Given the description of an element on the screen output the (x, y) to click on. 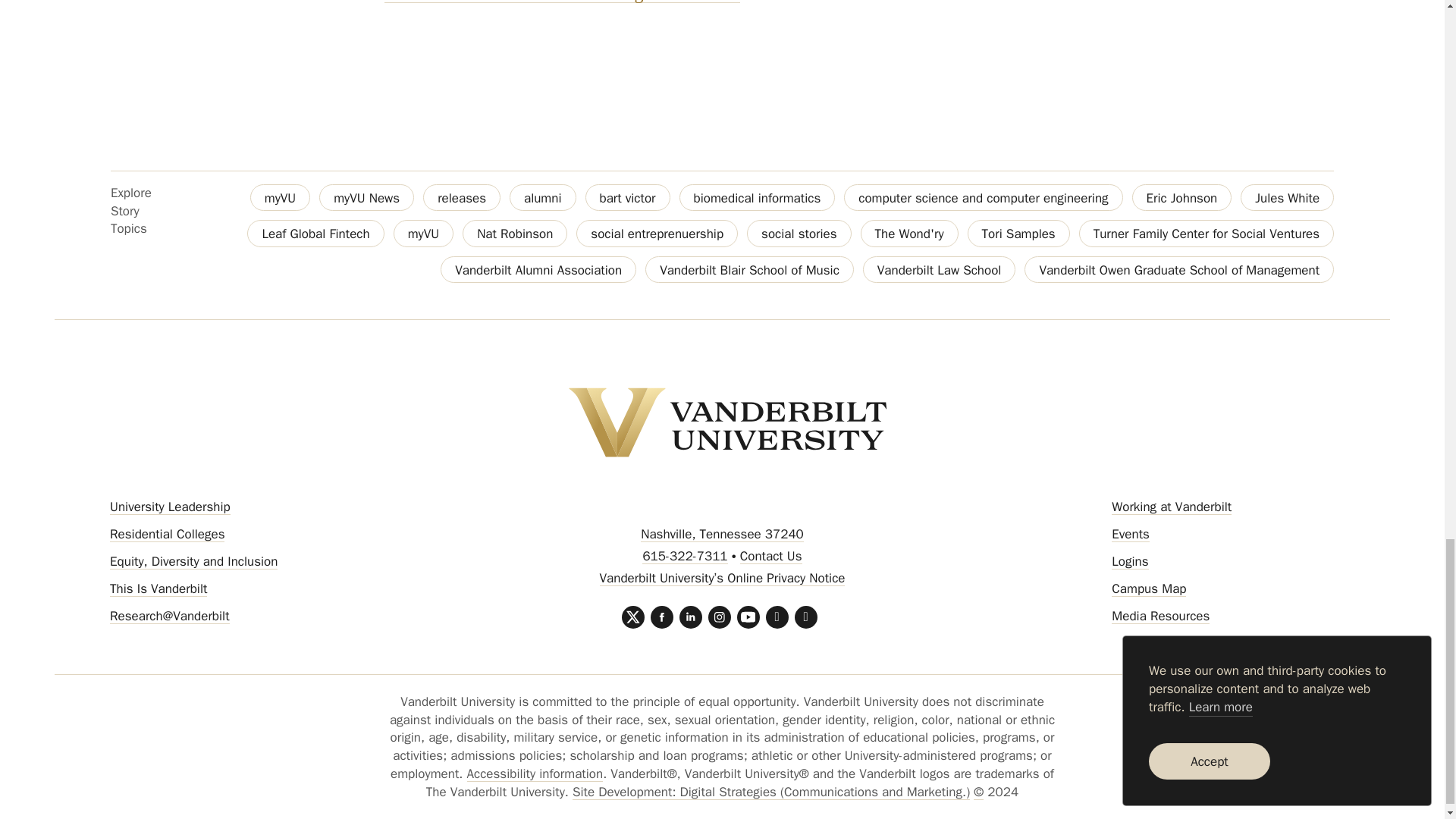
alumni (542, 197)
myVU News (365, 197)
releases (461, 197)
myVU (280, 197)
